Given the description of an element on the screen output the (x, y) to click on. 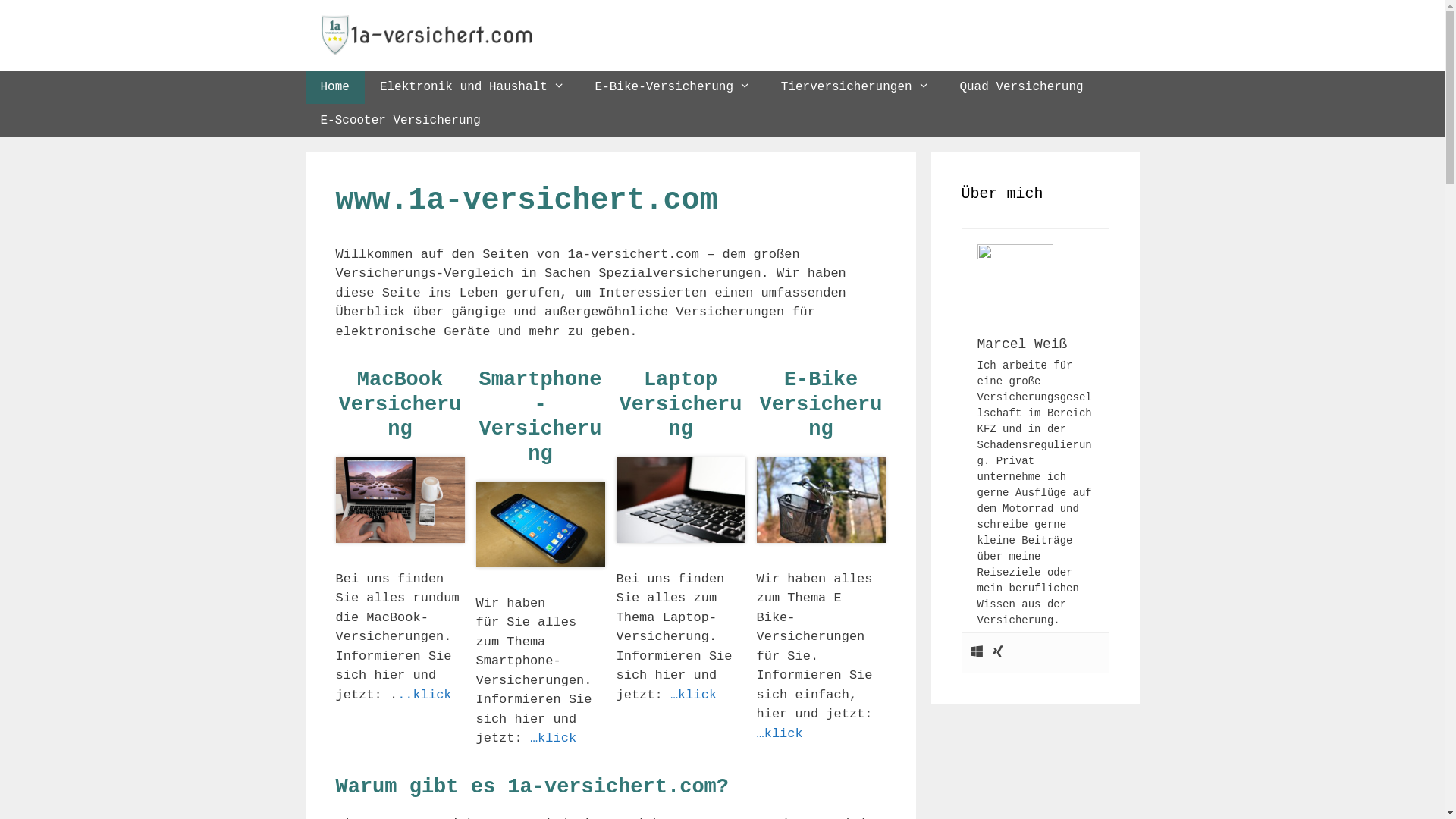
Springe zum Inhalt Element type: text (0, 0)
1a-versichert.com Element type: hover (426, 35)
Quad Versicherung Element type: text (1021, 86)
MacBook-Versicherung Element type: hover (399, 499)
..klick Element type: text (424, 694)
1a-versichert.com Element type: hover (426, 35)
Smartphone-Versicherung Element type: hover (540, 524)
E-Scooter Versicherung Element type: text (399, 120)
ebike-Versicherung Element type: hover (820, 499)
Elektronik und Haushalt Element type: text (472, 86)
Tierversicherungen Element type: text (854, 86)
Home Element type: text (334, 86)
Laptop-Versicherung Element type: hover (679, 499)
E-Bike-Versicherung Element type: text (672, 86)
